Given the description of an element on the screen output the (x, y) to click on. 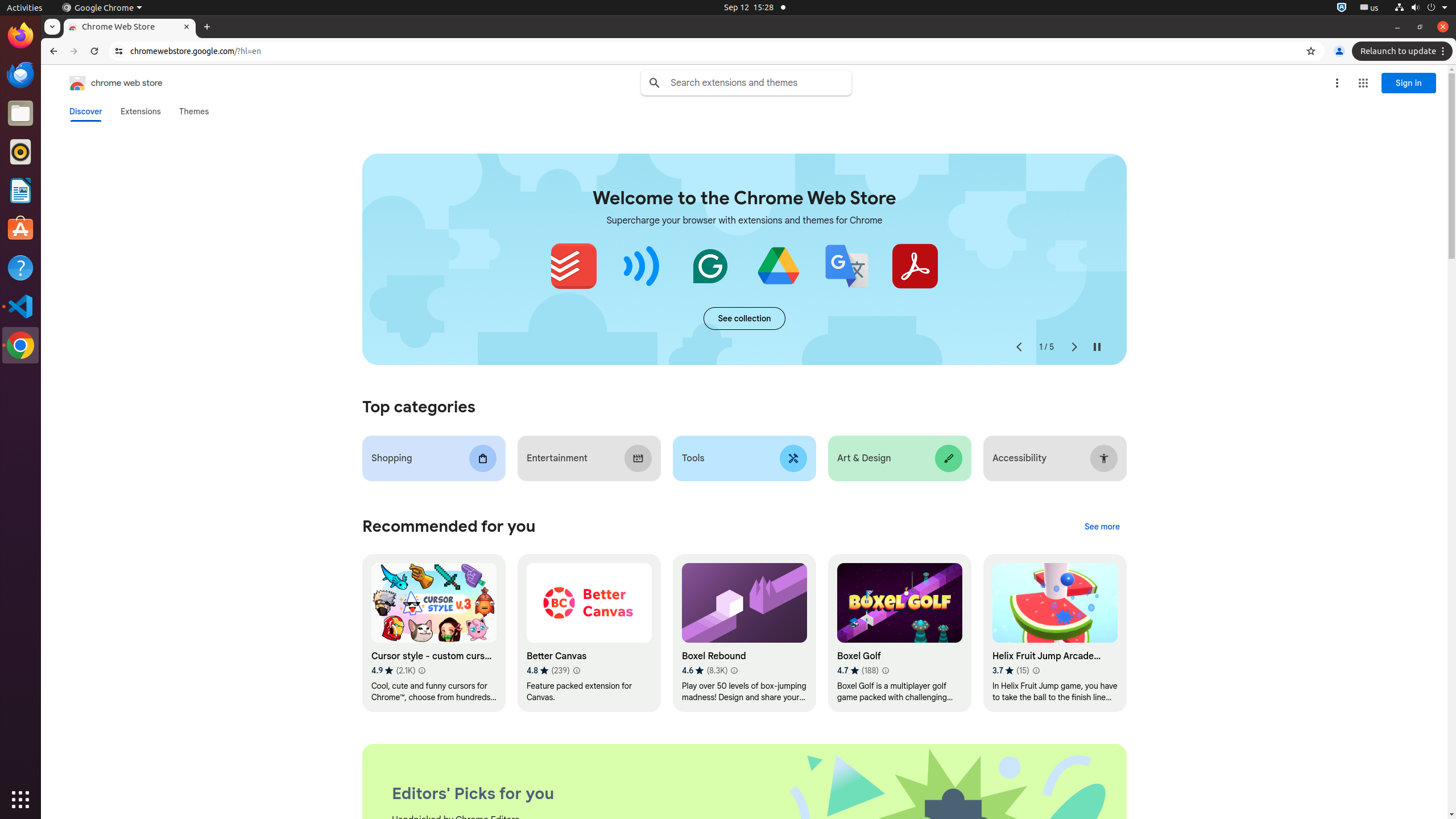
Firefox Web Browser Element type: push-button (20, 35)
Adobe Acrobat: PDF edit, convert, sign tools Element type: link (914, 266)
Google Chrome Element type: menu (101, 7)
Visual Studio Code Element type: push-button (20, 306)
Learn more about results and reviews "Cursor style - custom cursor for your browser" Element type: push-button (421, 670)
